Given the description of an element on the screen output the (x, y) to click on. 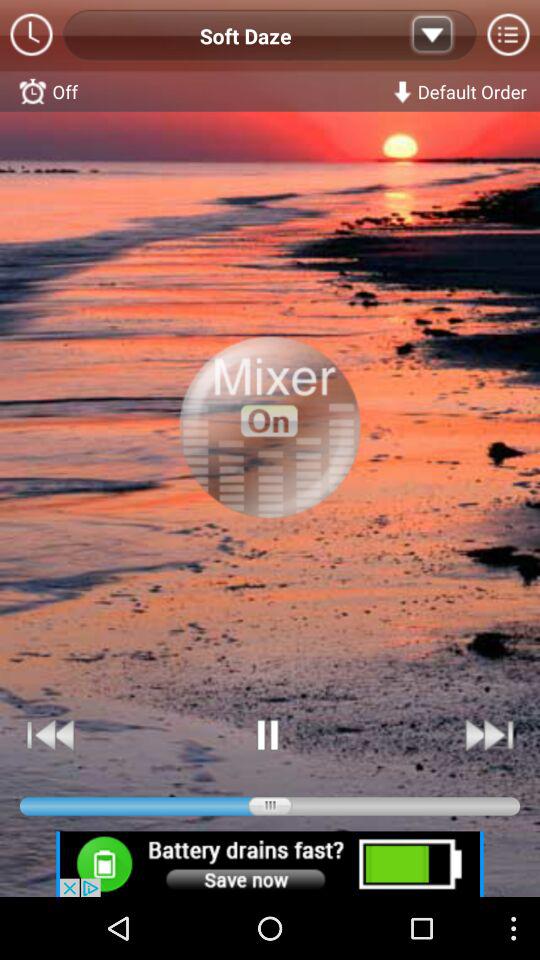
battery save option (270, 864)
